Given the description of an element on the screen output the (x, y) to click on. 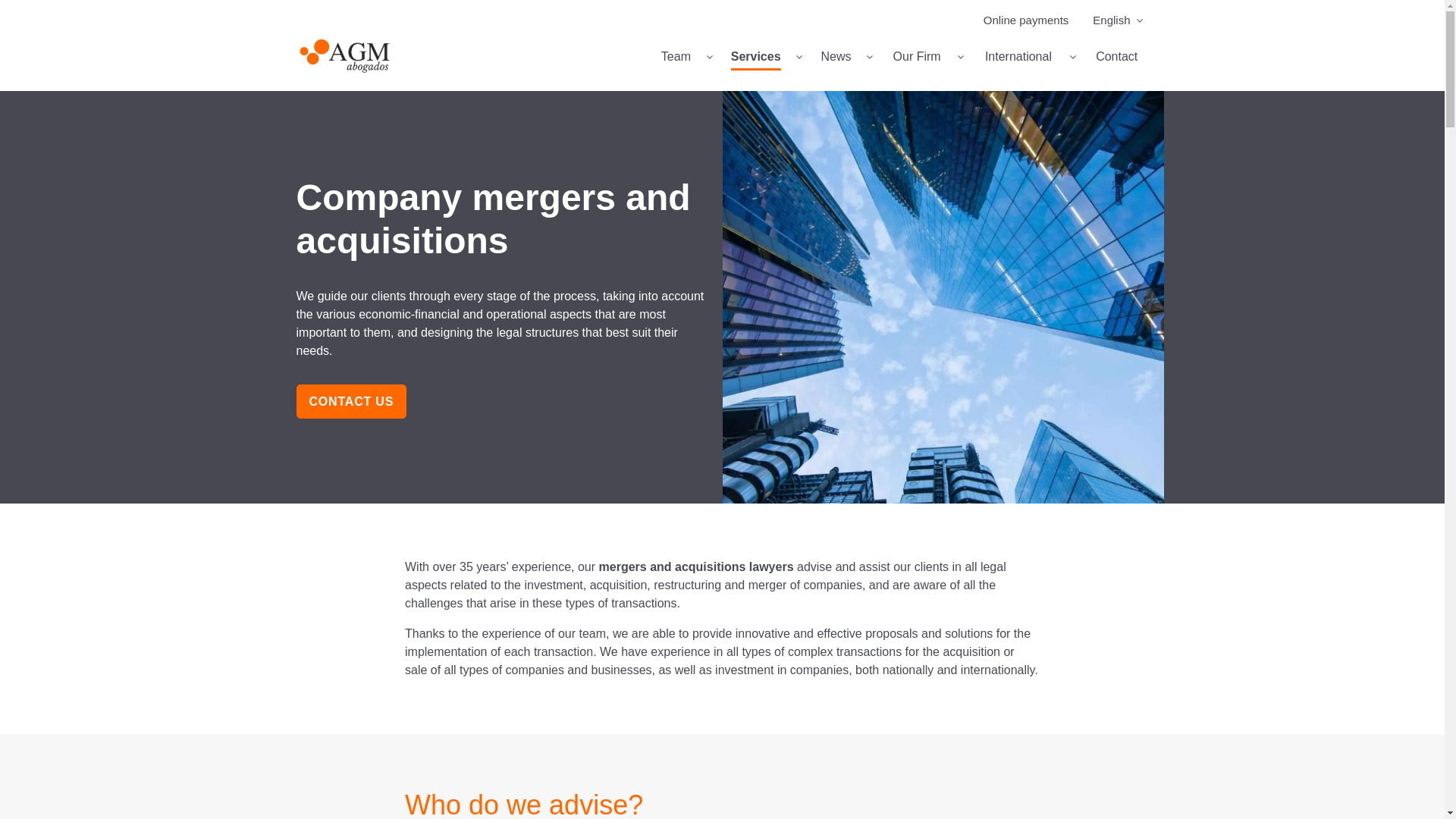
English (1113, 20)
Team (683, 55)
International (1025, 55)
Services (763, 55)
Our Firm (924, 55)
News (843, 55)
Online payments (1031, 20)
